Given the description of an element on the screen output the (x, y) to click on. 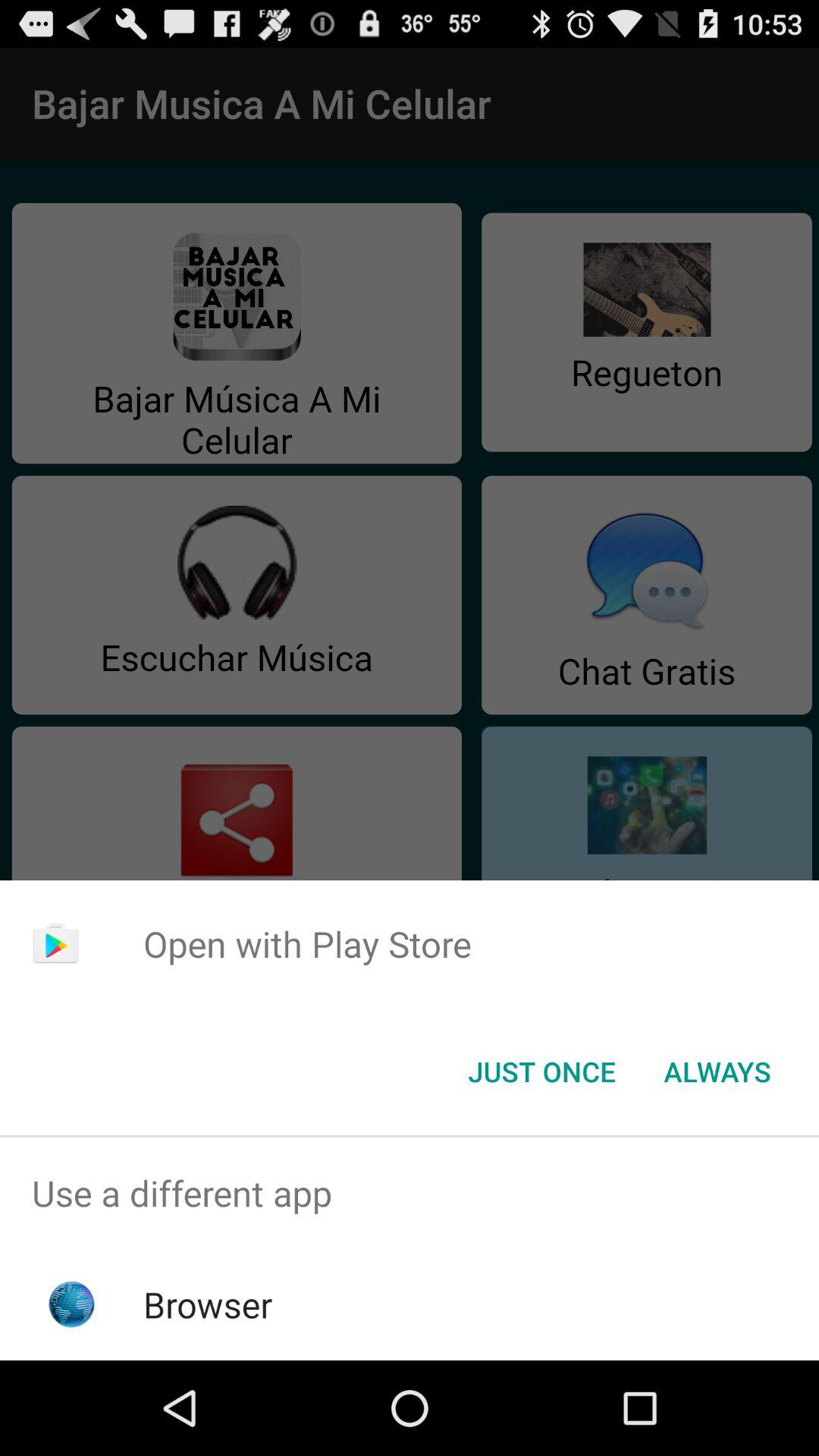
open icon below open with play app (541, 1071)
